Given the description of an element on the screen output the (x, y) to click on. 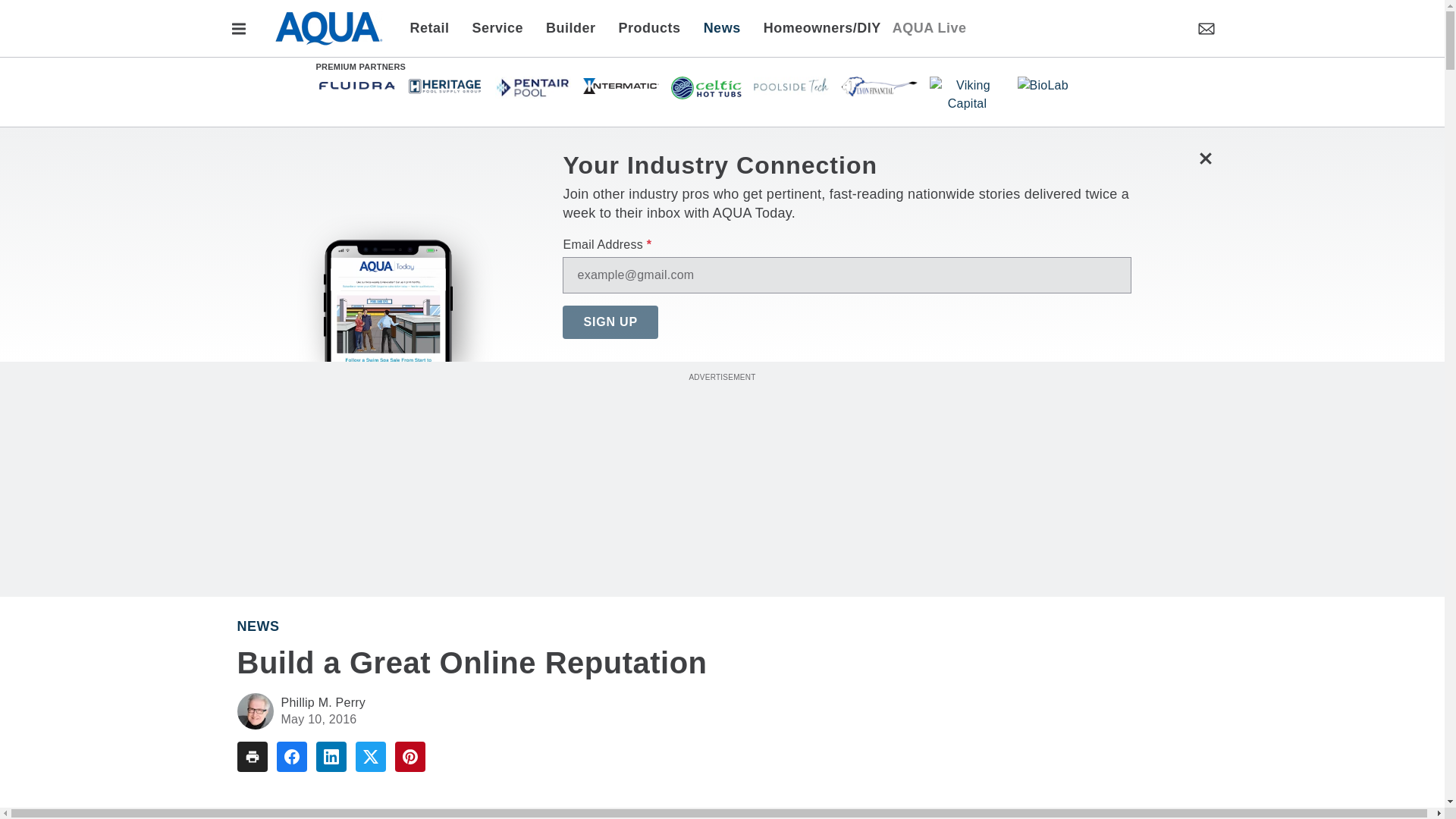
Fluidra (356, 85)
Pentair (532, 86)
Retail (434, 27)
Service (498, 27)
AQUA Live (929, 27)
Products (650, 27)
Builder (570, 27)
News (722, 27)
Heritage Pool Supply Group (443, 85)
